Given the description of an element on the screen output the (x, y) to click on. 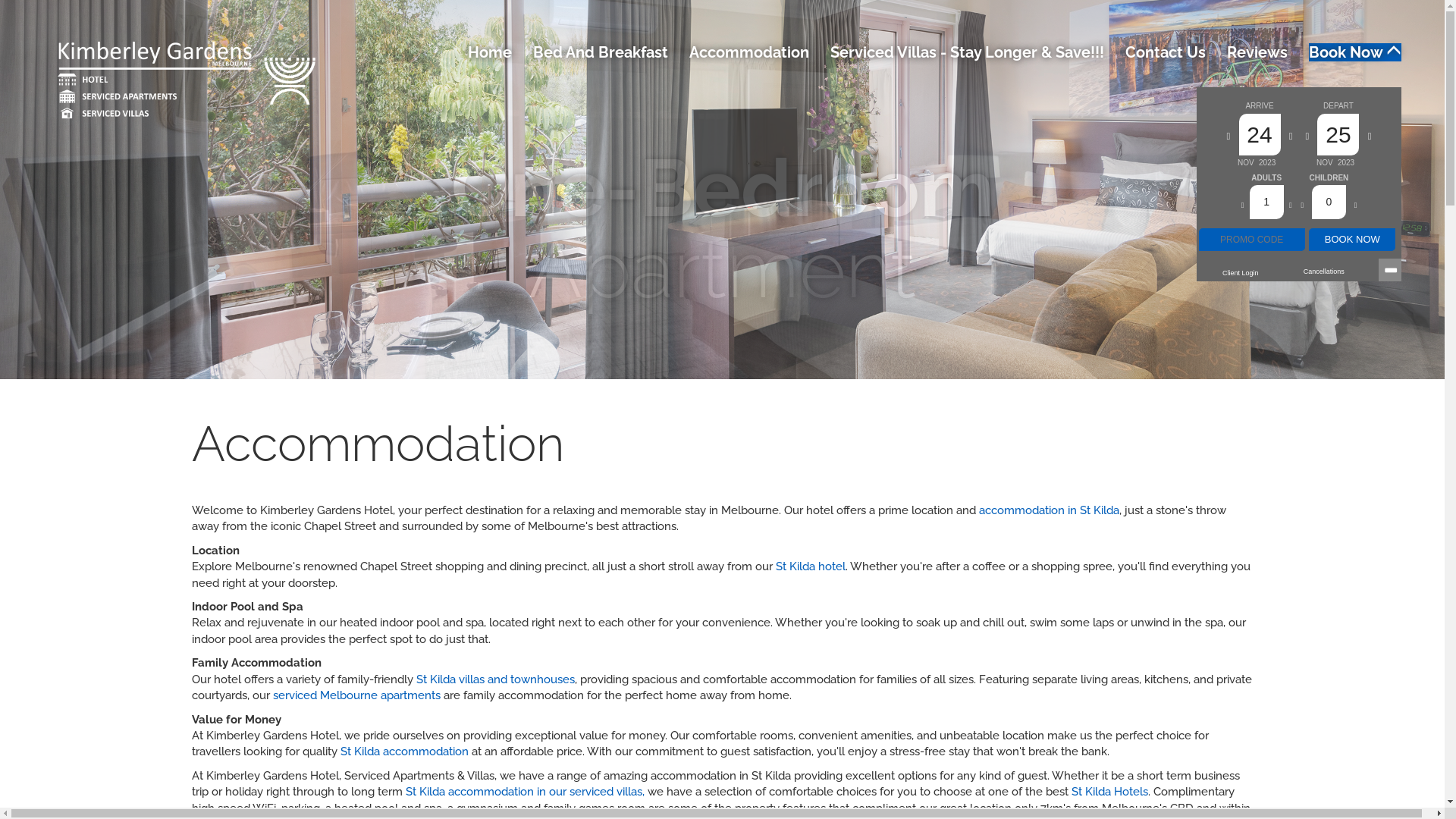
St Kilda accommodation Element type: text (403, 751)
accommodation in St Kilda Element type: text (1048, 510)
Home Element type: text (489, 52)
Accommodation Element type: text (749, 52)
Book Now Element type: text (1354, 52)
St Kilda Hotels Element type: text (1108, 791)
Serviced Villas - Stay Longer & Save!!! Element type: text (967, 52)
BOOK NOW Element type: text (1351, 239)
Reviews Element type: text (1256, 52)
serviced Melbourne apartments Element type: text (356, 695)
St Kilda villas and townhouses Element type: text (494, 679)
St Kilda hotel Element type: text (809, 566)
St Kilda accommodation in our serviced villas, Element type: text (523, 791)
Cancellations Element type: text (1323, 271)
Bed And Breakfast Element type: text (600, 52)
Client Login Element type: text (1240, 272)
Contact Us Element type: text (1165, 52)
